Given the description of an element on the screen output the (x, y) to click on. 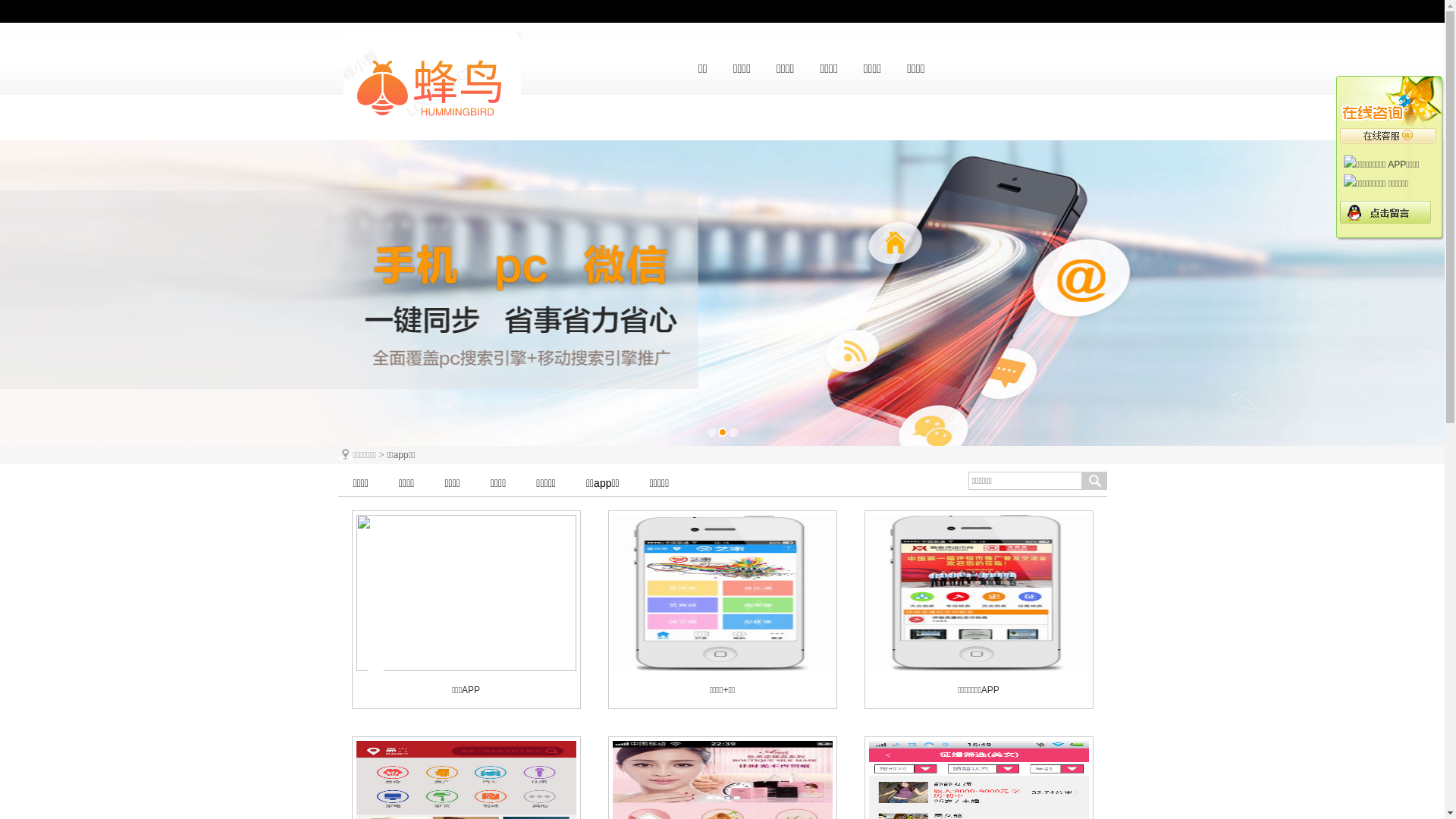
      Element type: text (957, 68)
      Element type: text (1039, 68)
      Element type: text (1080, 68)
      Element type: text (998, 68)
